Given the description of an element on the screen output the (x, y) to click on. 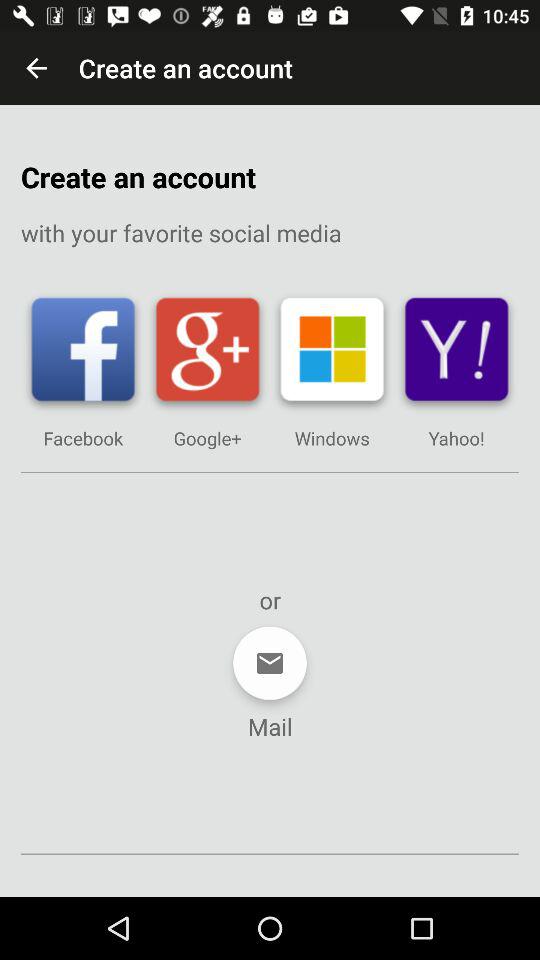
mail (269, 663)
